Given the description of an element on the screen output the (x, y) to click on. 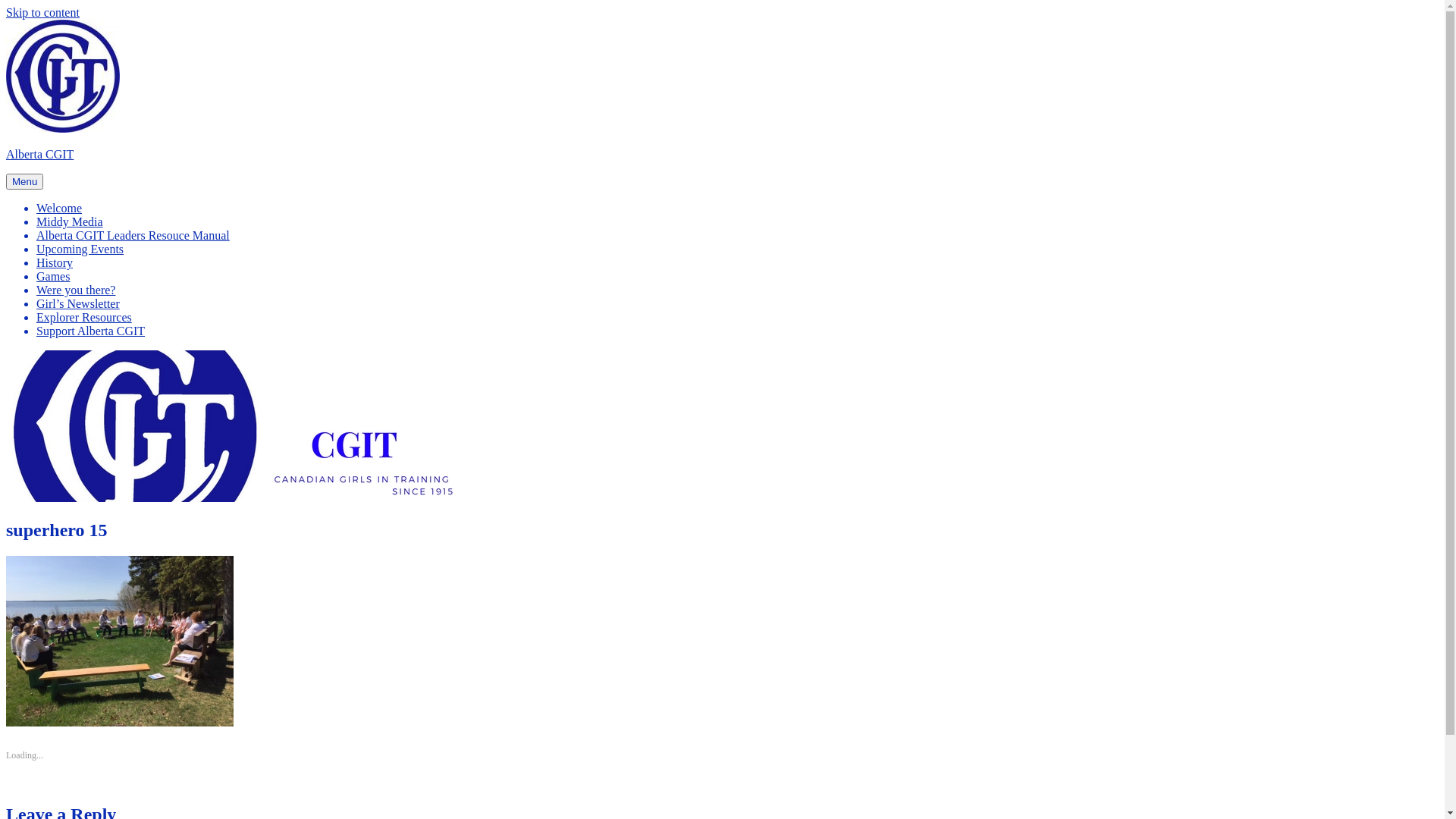
Welcome Element type: text (58, 207)
Alberta CGIT Element type: text (39, 153)
Were you there? Element type: text (75, 289)
Skip to content Element type: text (42, 12)
Middy Media Element type: text (69, 221)
Explorer Resources Element type: text (83, 316)
Games Element type: text (52, 275)
Menu Element type: text (24, 181)
Support Alberta CGIT Element type: text (90, 330)
History Element type: text (54, 262)
Alberta CGIT Leaders Resouce Manual Element type: text (132, 235)
Upcoming Events Element type: text (79, 248)
